Given the description of an element on the screen output the (x, y) to click on. 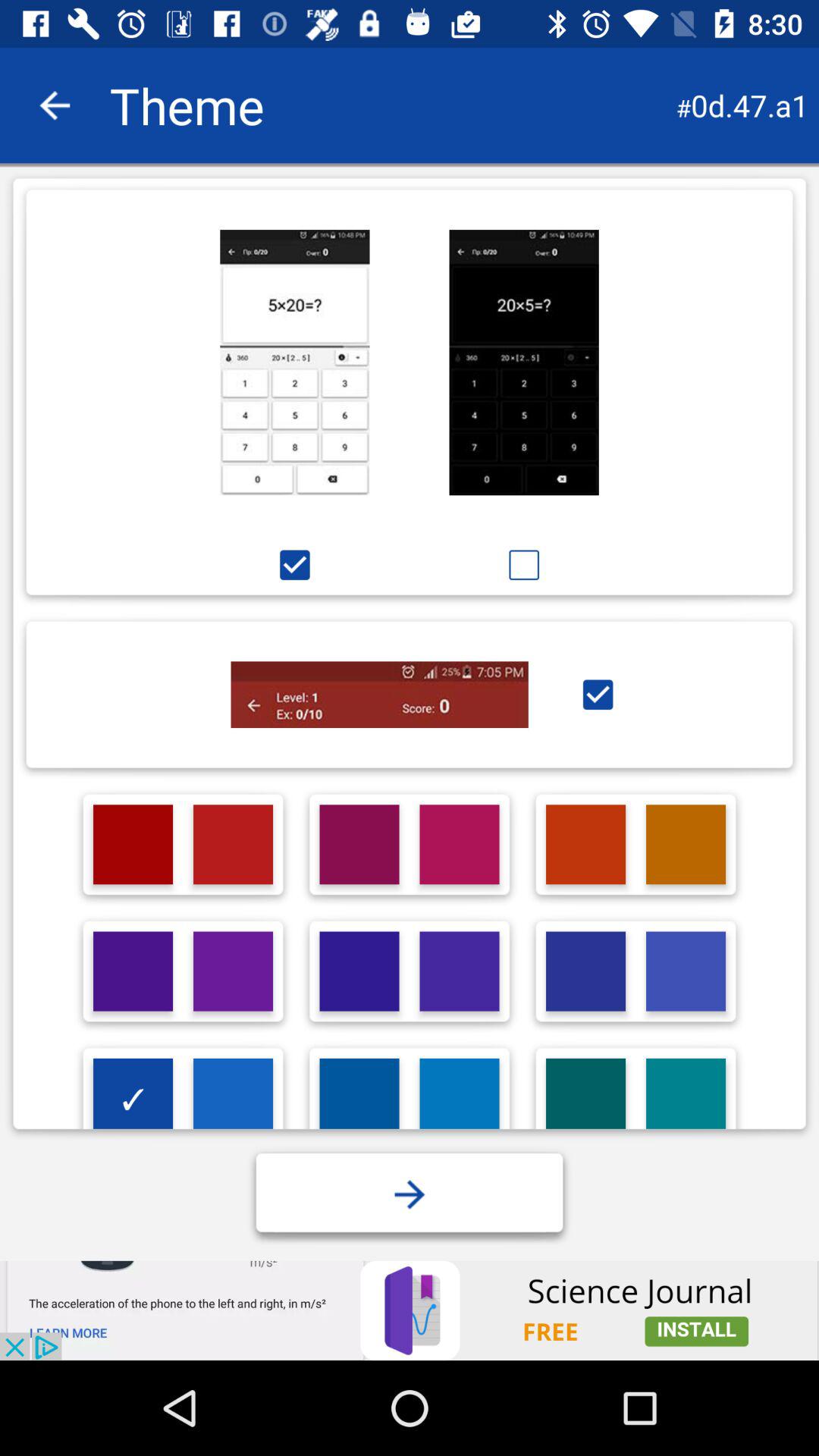
colour option (359, 971)
